Given the description of an element on the screen output the (x, y) to click on. 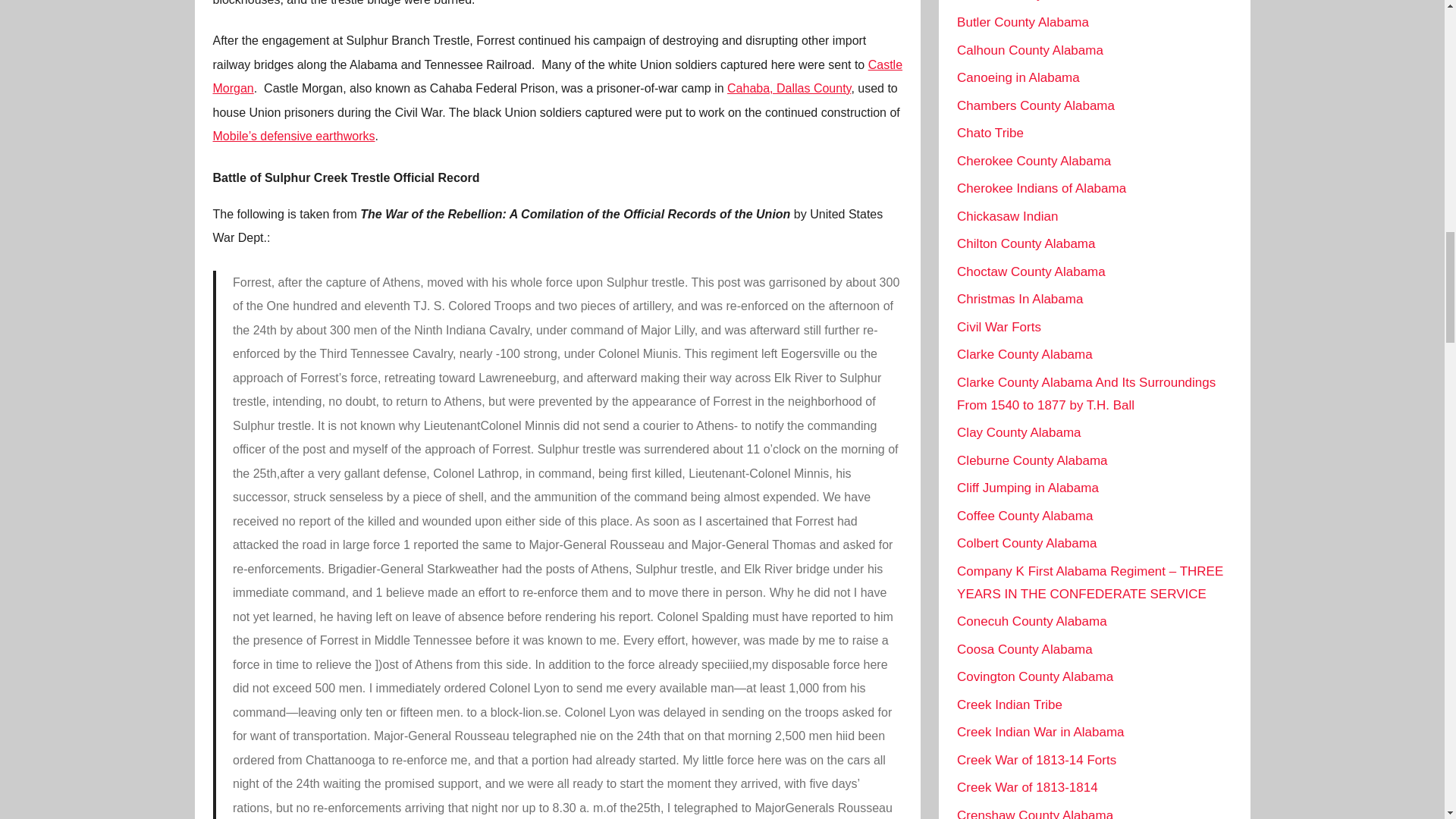
Castle Morgan (557, 76)
Cahaba, Dallas County (788, 88)
